Given the description of an element on the screen output the (x, y) to click on. 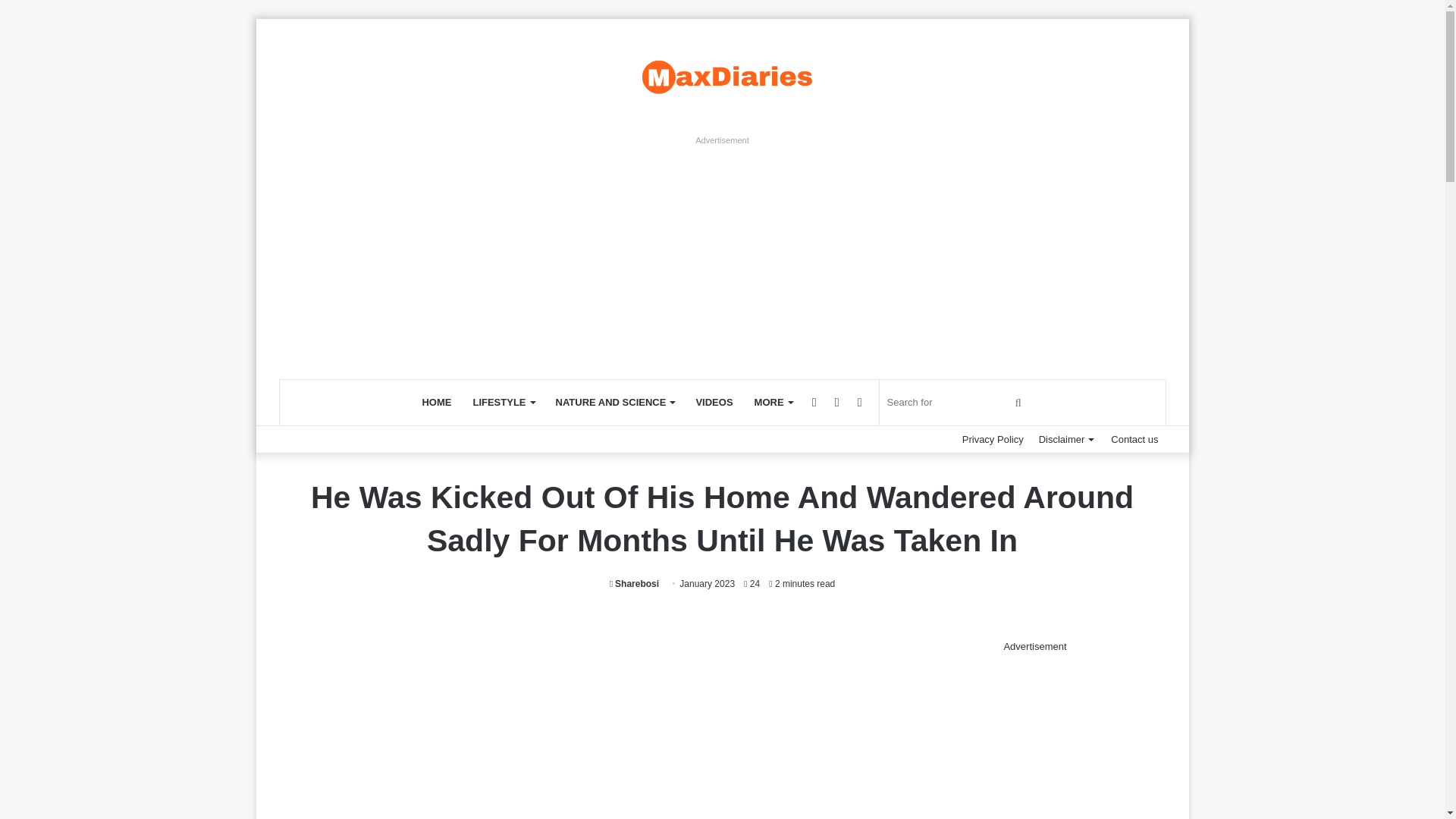
Advertisement (1035, 744)
MORE (773, 402)
Advertisement (574, 728)
Log In (814, 402)
MaxDiaries (721, 75)
Search for (956, 402)
Contact us (1134, 438)
Search for (1018, 402)
NATURE AND SCIENCE (614, 402)
Disclaimer (1066, 438)
Switch skin (859, 402)
Sharebosi (634, 583)
Random Article (836, 402)
Random Article (836, 402)
